Given the description of an element on the screen output the (x, y) to click on. 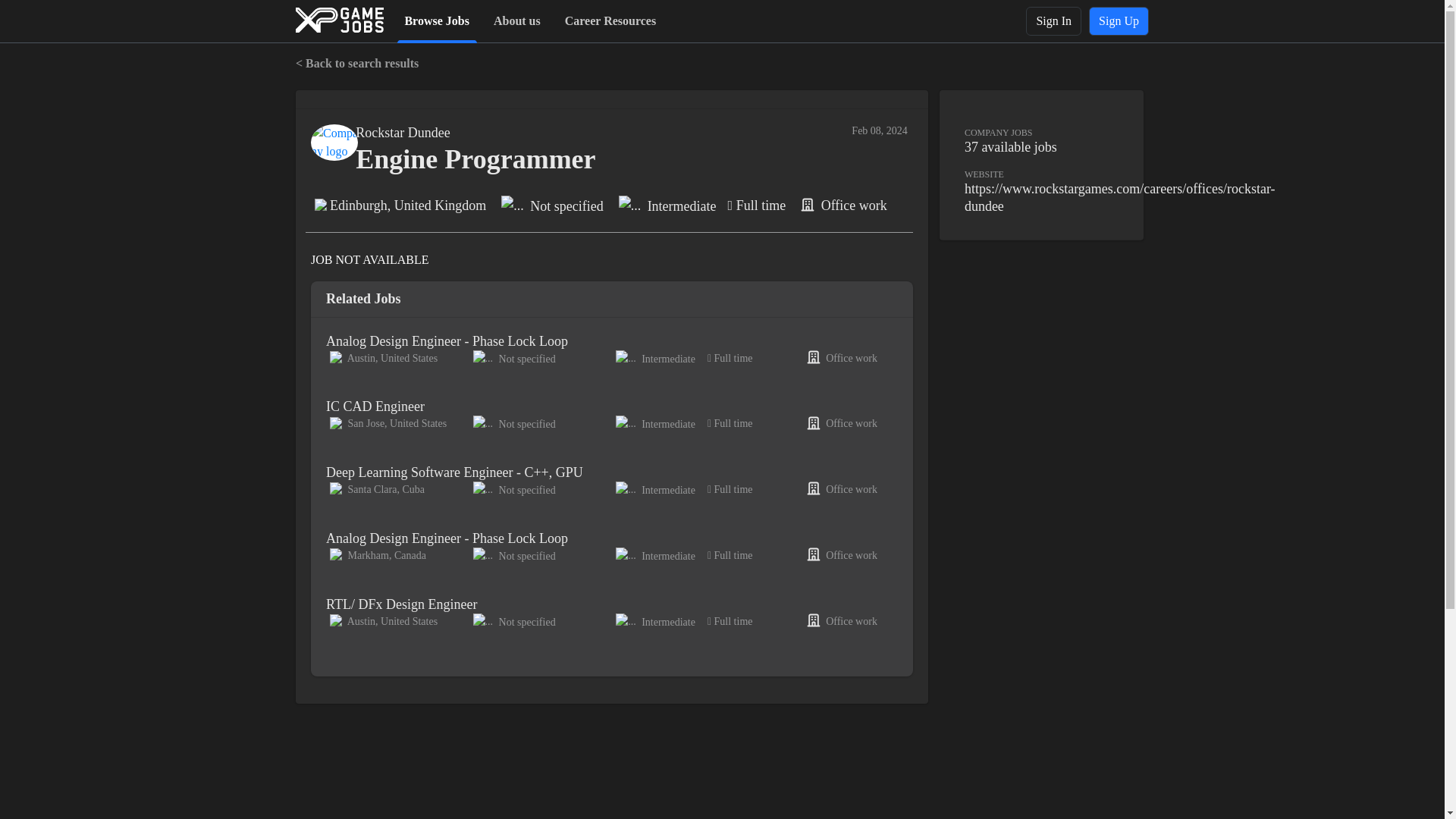
Sign In (1053, 21)
Rockstar Dundee (402, 132)
About us (517, 20)
Browse Jobs (436, 20)
Career Resources (610, 20)
Sign Up (1118, 21)
